Given the description of an element on the screen output the (x, y) to click on. 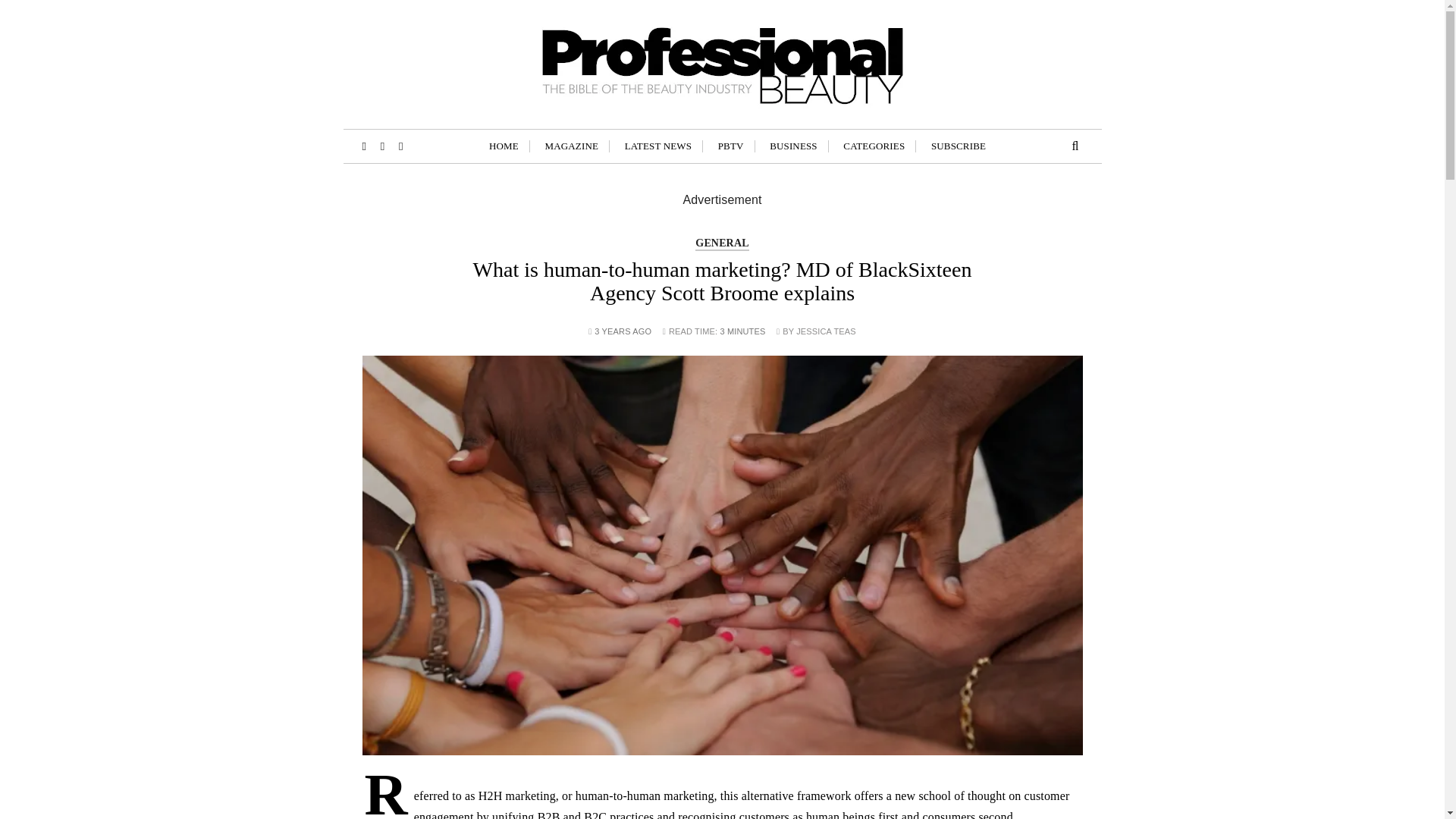
SUBSCRIBE (958, 145)
PBTV (730, 145)
HOME (503, 145)
LATEST NEWS (657, 145)
BUSINESS (793, 145)
CATEGORIES (873, 145)
MAGAZINE (572, 145)
Professional Beauty (529, 139)
